Given the description of an element on the screen output the (x, y) to click on. 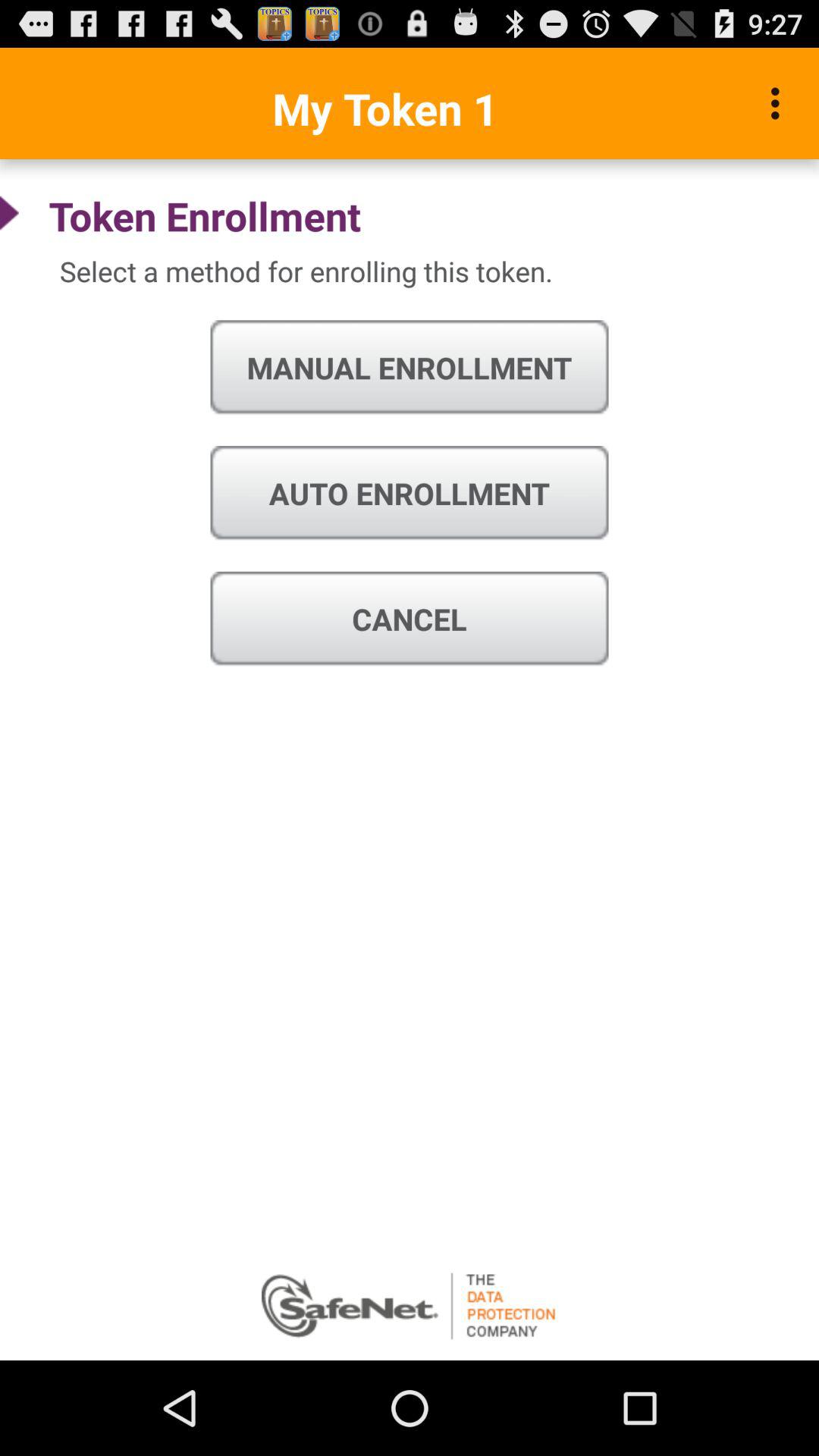
select manual enrollment item (409, 367)
